Given the description of an element on the screen output the (x, y) to click on. 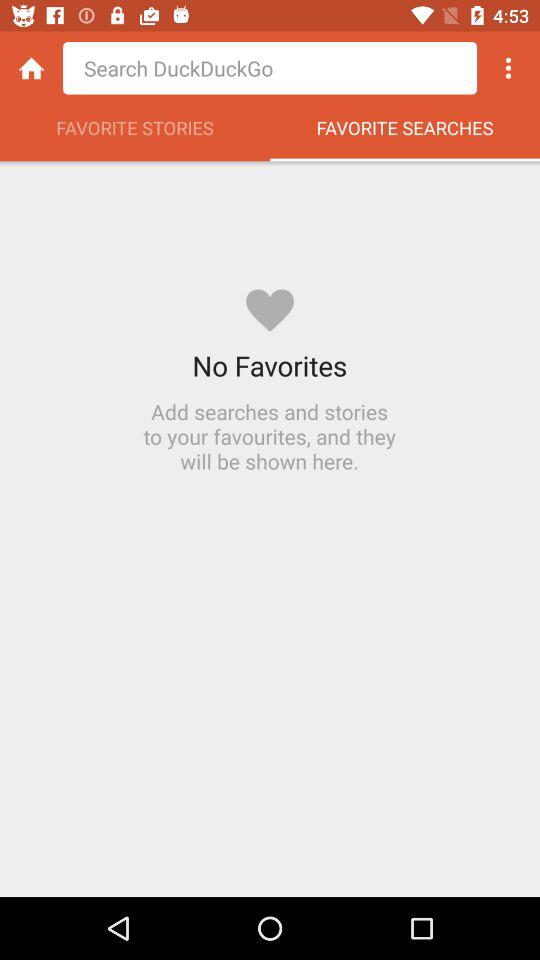
turn off app to the left of the favorite searches app (135, 133)
